Given the description of an element on the screen output the (x, y) to click on. 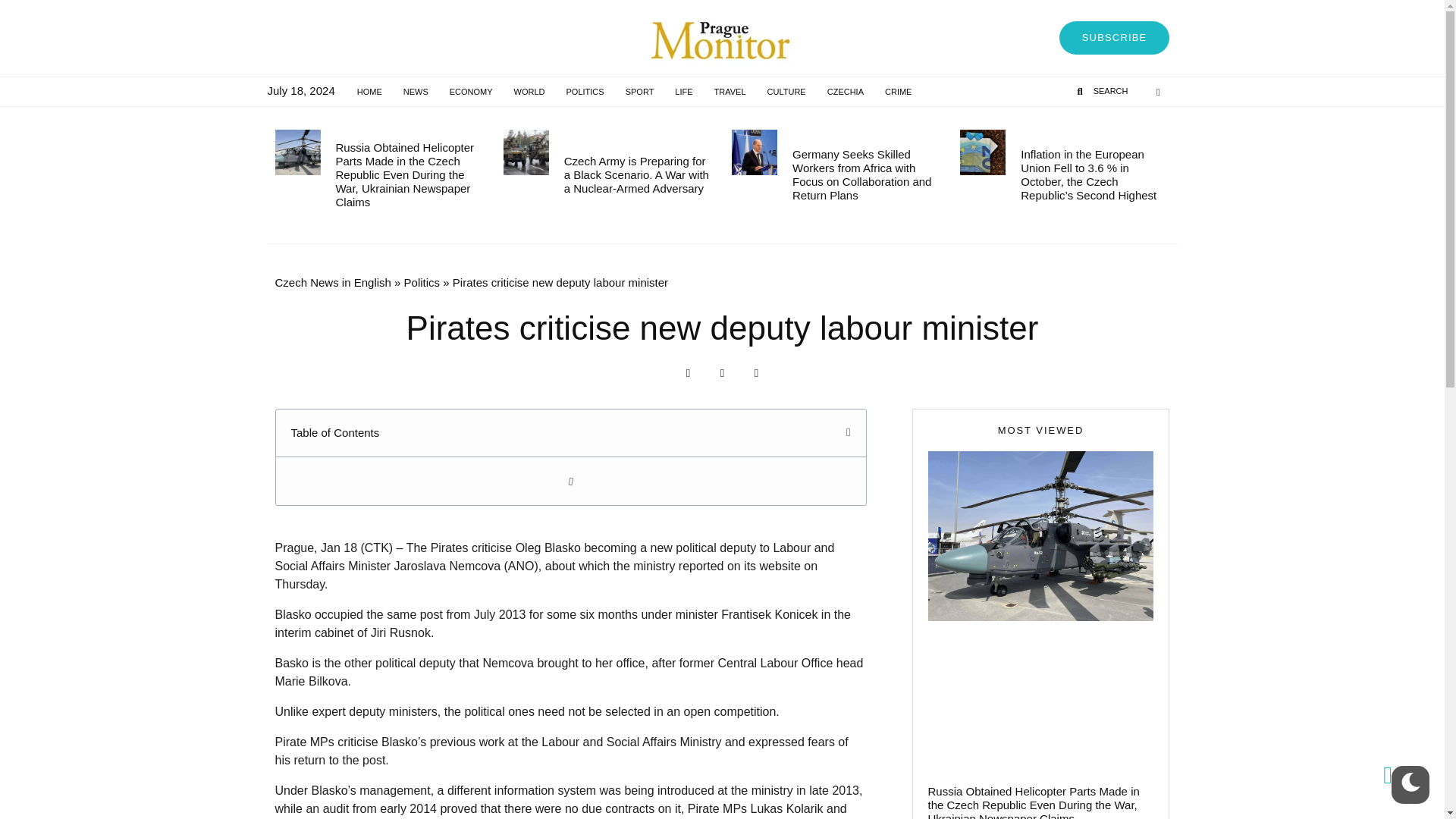
Czech News in English (332, 282)
POLITICS (585, 91)
WORLD (529, 91)
HOME (369, 91)
CRIME (898, 91)
NEWS (416, 91)
CULTURE (786, 91)
LIFE (683, 91)
ECONOMY (471, 91)
SPORT (639, 91)
SUBSCRIBE (1114, 37)
CZECHIA (845, 91)
